Given the description of an element on the screen output the (x, y) to click on. 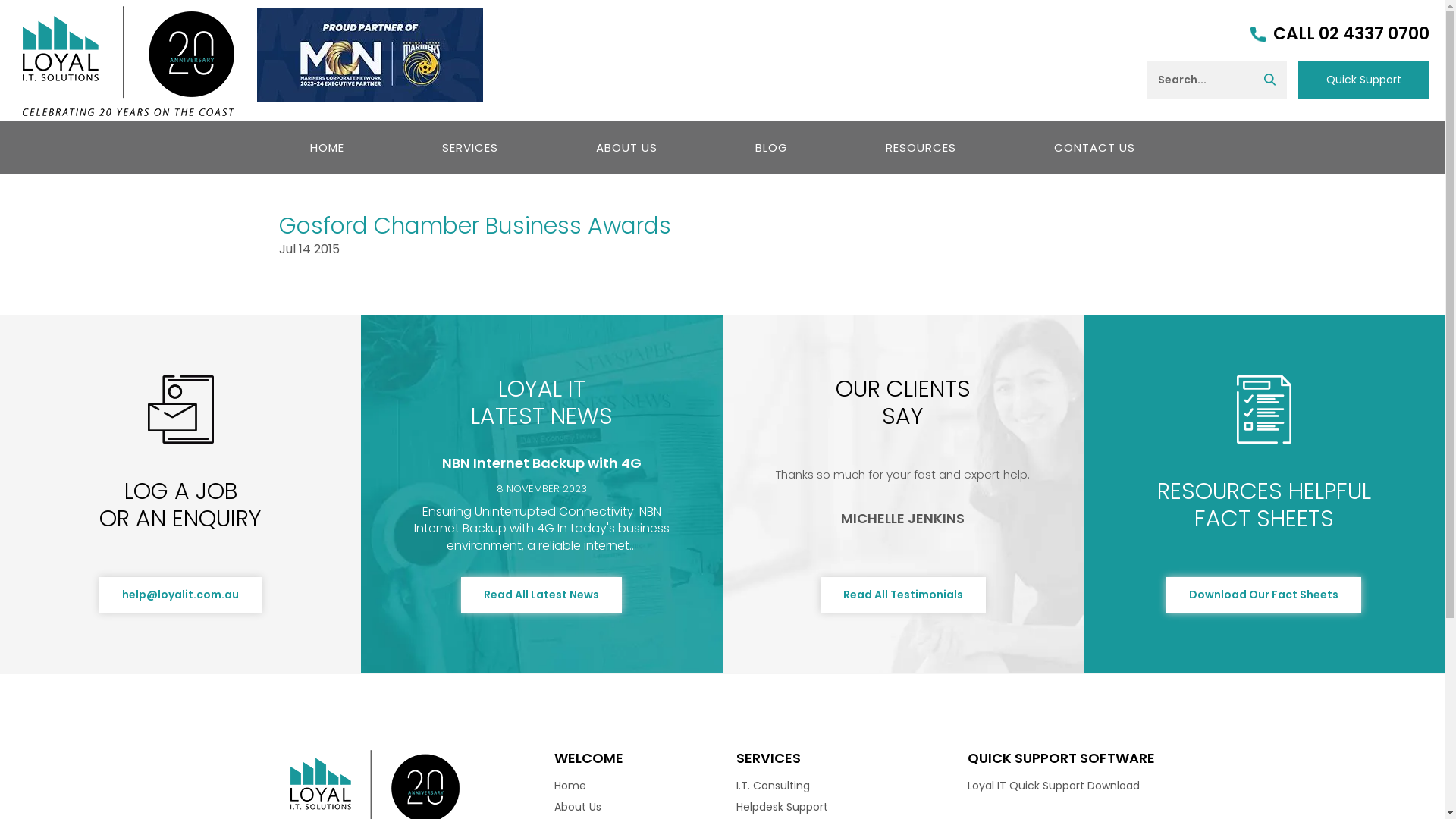
Search Element type: text (1269, 79)
Quick Support Element type: text (1363, 79)
Loyal IT Quick Support Download Element type: text (1053, 785)
Loyal I.T Solutions Element type: hover (373, 792)
Loyal I.T Solutions Element type: hover (128, 59)
SERVICES Element type: text (470, 147)
CONTACT US Element type: text (1093, 147)
Gosford Chamber Business Awards Element type: text (475, 225)
HOME Element type: text (327, 147)
I.T. Consulting Element type: text (772, 785)
Read All Testimonials Element type: text (902, 594)
help@loyalit.com.au Element type: text (180, 594)
Read All Latest News Element type: text (541, 594)
ABOUT US Element type: text (625, 147)
About Us Element type: text (577, 806)
CALL 02 4337 0700 Element type: text (1339, 34)
Helpdesk Support Element type: text (782, 806)
NBN Internet Backup with 4G Element type: text (541, 462)
Download Our Fact Sheets Element type: text (1263, 594)
Home Element type: text (570, 785)
Mariners Business Lounge Element type: hover (370, 53)
BLOG Element type: text (770, 147)
RESOURCES Element type: text (920, 147)
